Given the description of an element on the screen output the (x, y) to click on. 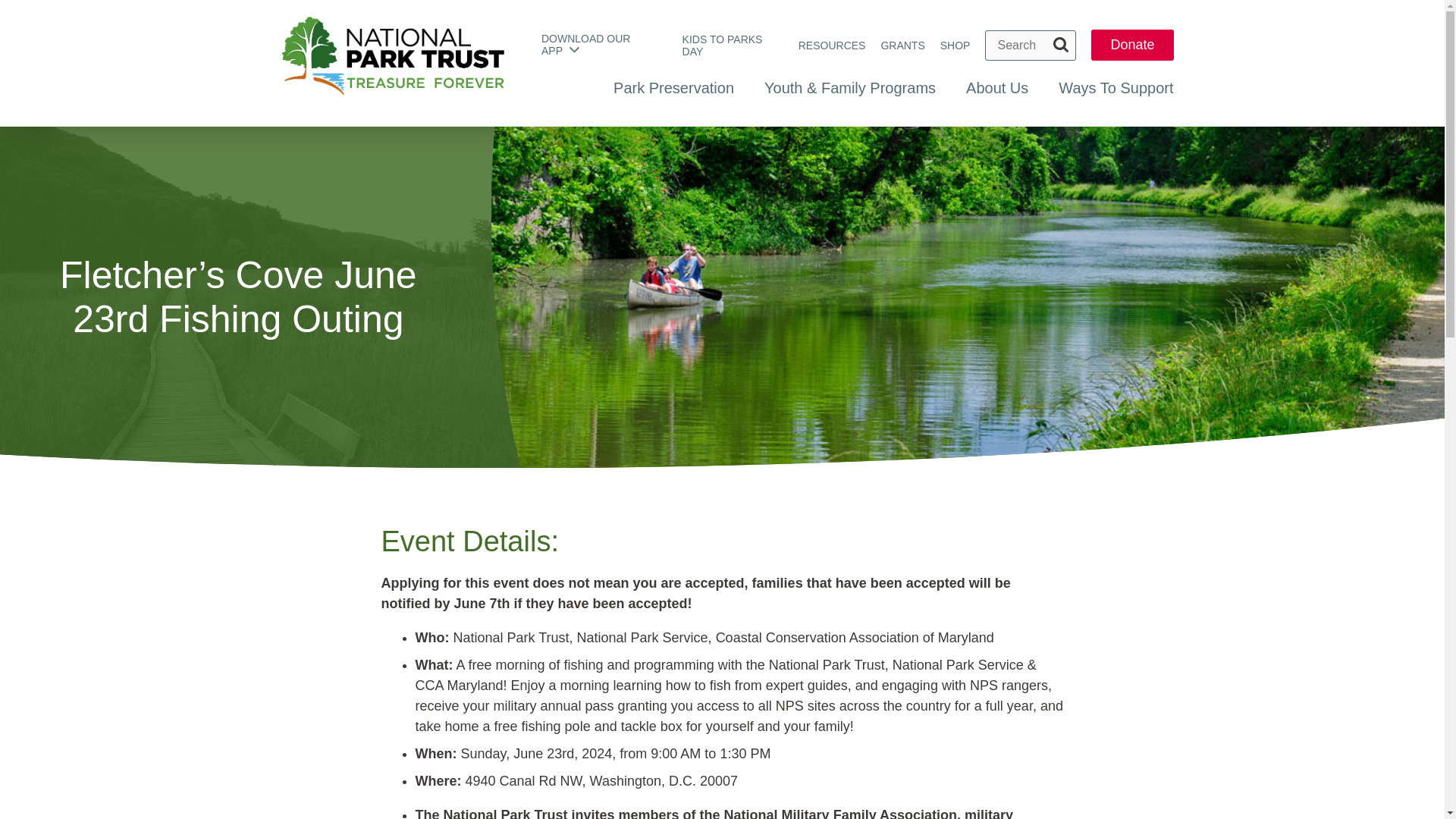
Park Preservation (672, 88)
Donate (1131, 45)
National Park Trust (390, 63)
KIDS TO PARKS DAY (722, 45)
Ways To Support (1115, 88)
About Us (996, 88)
DOWNLOAD OUR APP (585, 44)
RESOURCES (831, 45)
GRANTS (902, 45)
SHOP (955, 45)
